Given the description of an element on the screen output the (x, y) to click on. 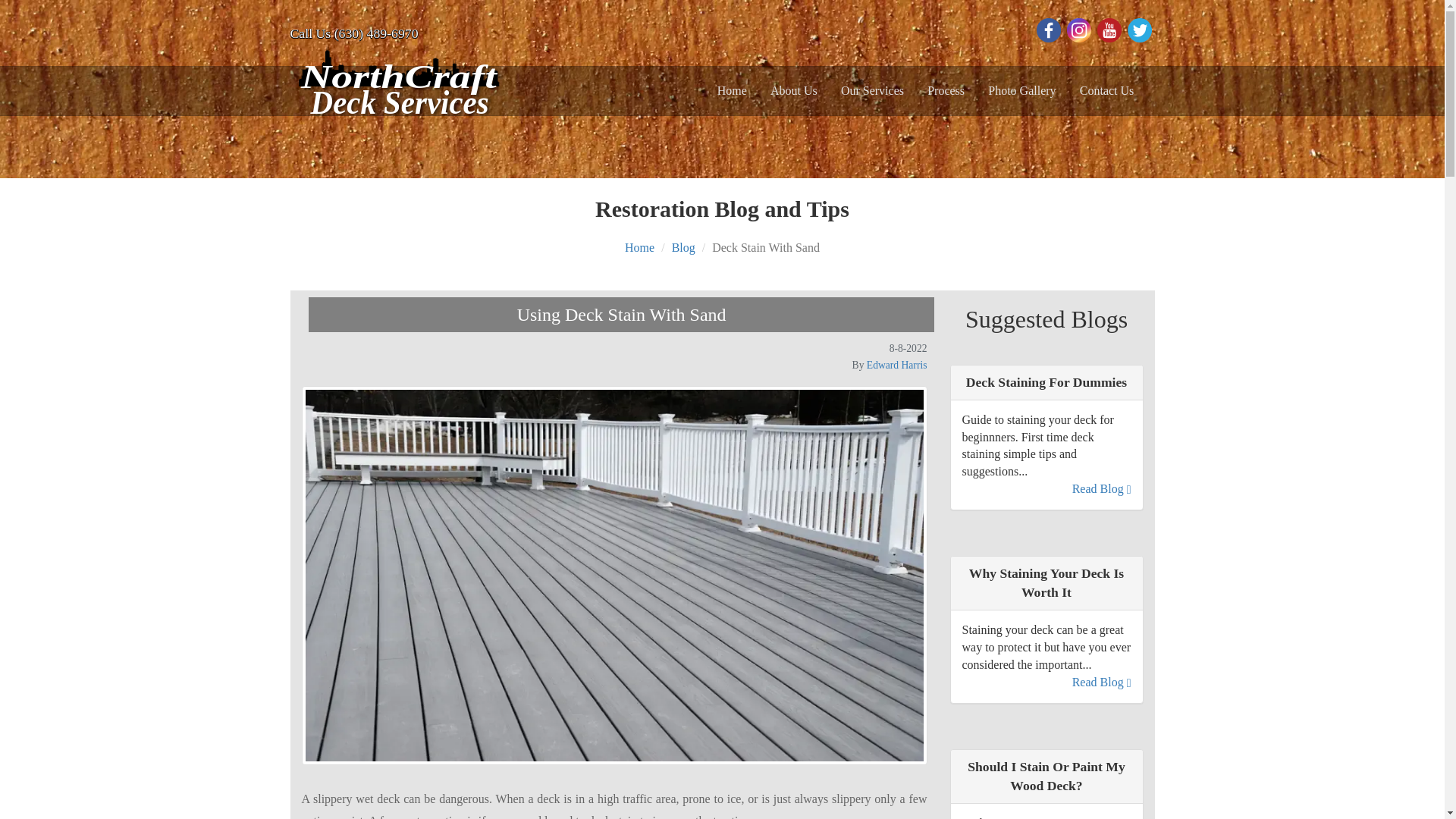
Blog (397, 84)
Read Blog (683, 246)
Read Blog (1101, 488)
About Us (1101, 681)
Home (793, 90)
Photo Gallery (638, 246)
Edward Harris (1021, 90)
Home (397, 82)
Process (896, 365)
Our Services (731, 90)
Contact Us (945, 90)
